Given the description of an element on the screen output the (x, y) to click on. 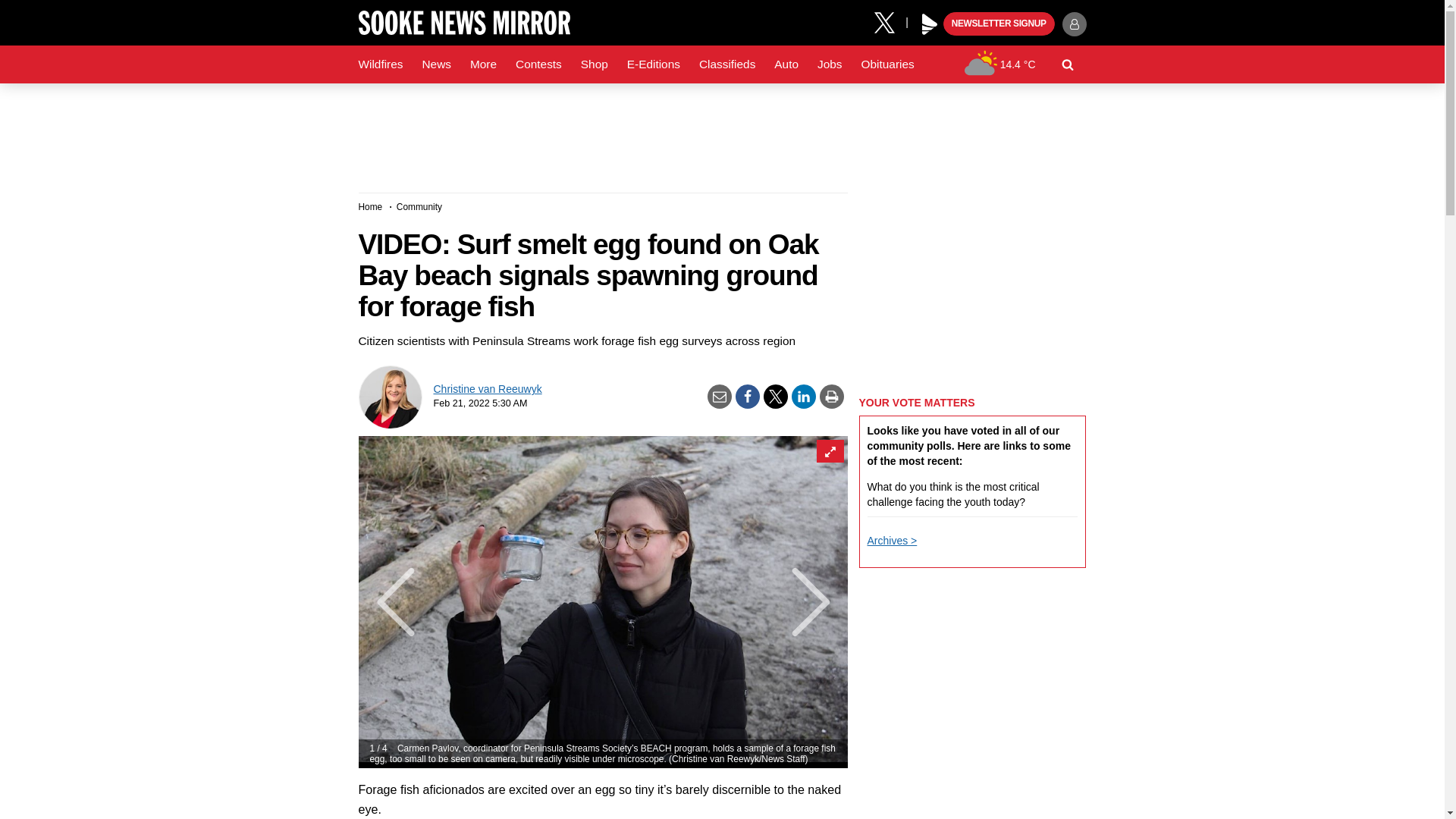
X (889, 21)
Black Press Media (929, 24)
NEWSLETTER SIGNUP (998, 24)
News (435, 64)
Expand (829, 450)
Play (929, 24)
Wildfires (380, 64)
